Given the description of an element on the screen output the (x, y) to click on. 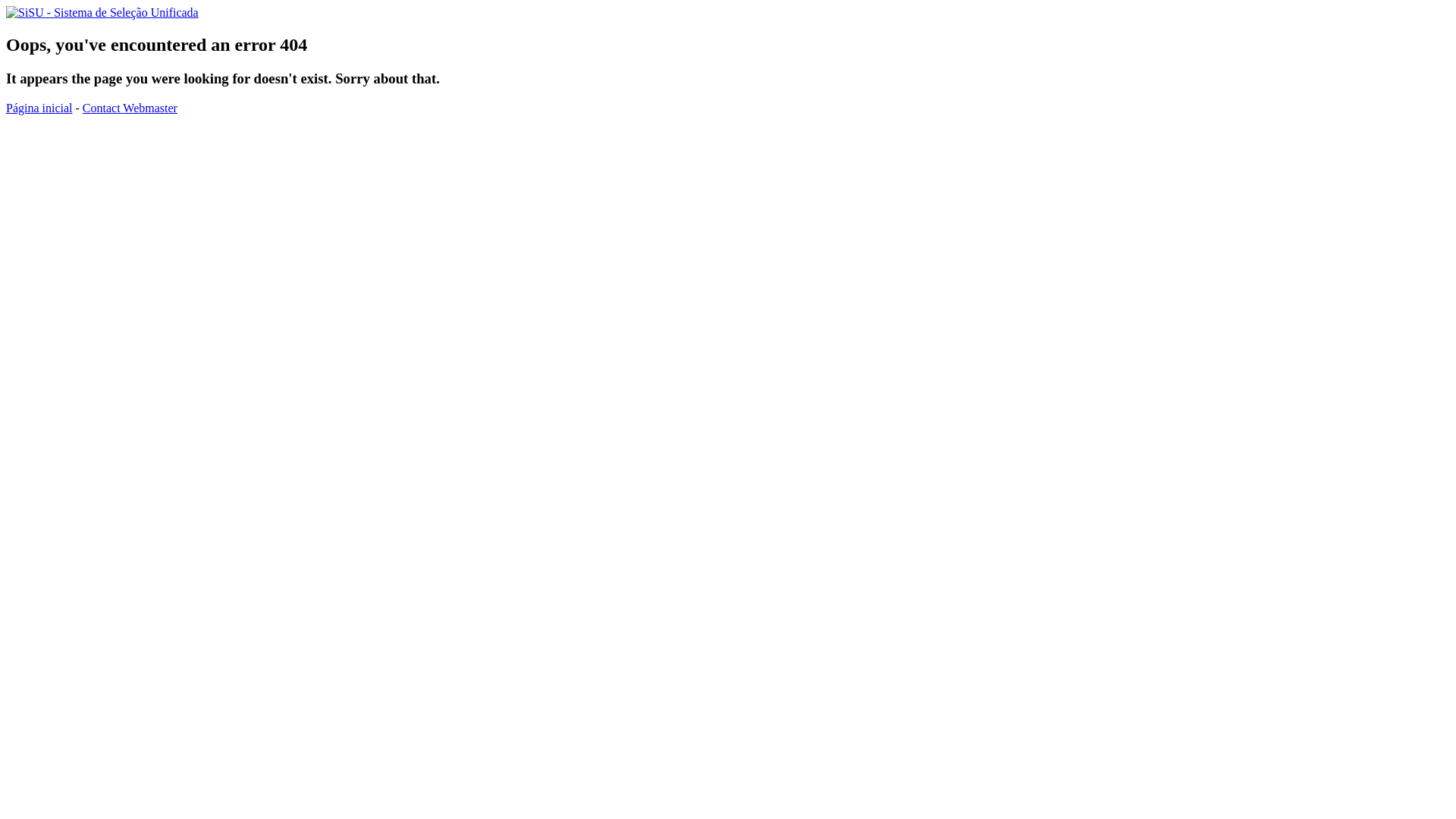
Contact Webmaster Element type: text (129, 107)
